Given the description of an element on the screen output the (x, y) to click on. 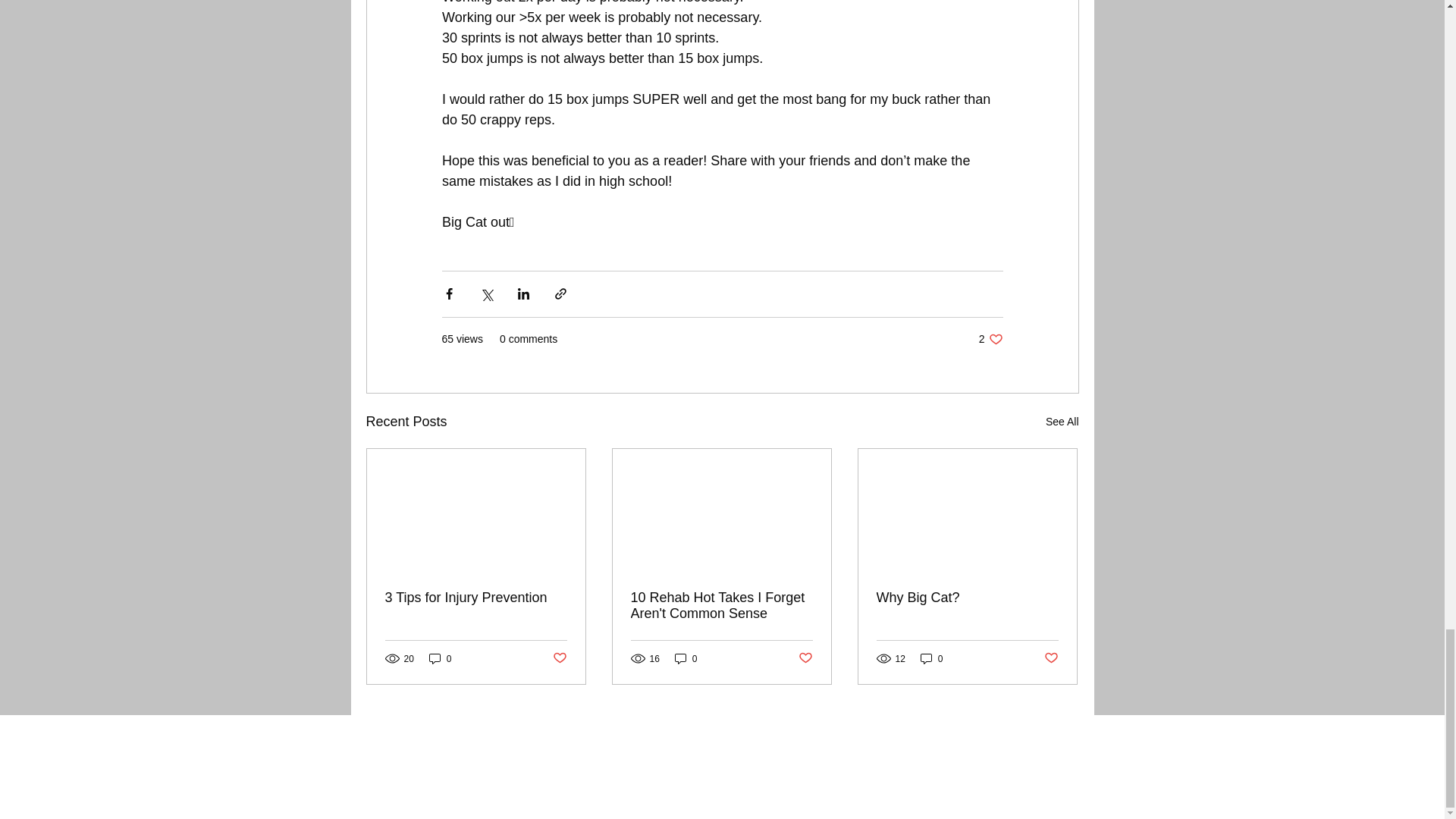
See All (1061, 422)
0 (685, 658)
0 (990, 339)
Why Big Cat? (440, 658)
Post not marked as liked (967, 597)
3 Tips for Injury Prevention (804, 658)
10 Rehab Hot Takes I Forget Aren't Common Sense (476, 597)
Post not marked as liked (721, 605)
